Given the description of an element on the screen output the (x, y) to click on. 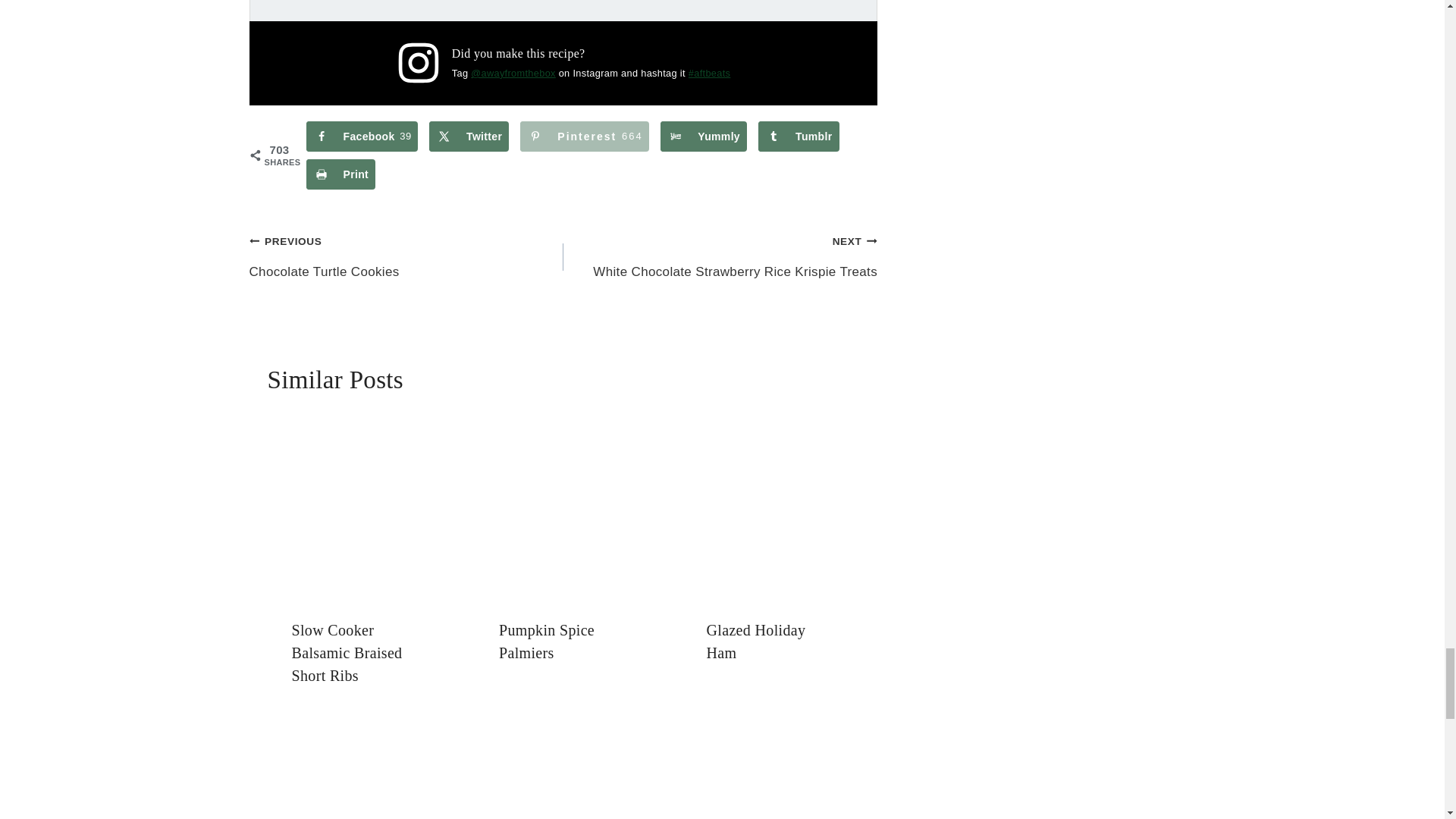
Share on X (468, 136)
Save to Pinterest (584, 136)
Share on Tumblr (798, 136)
Print this webpage (340, 173)
Share on Facebook (361, 136)
Share on Yummly (703, 136)
